Given the description of an element on the screen output the (x, y) to click on. 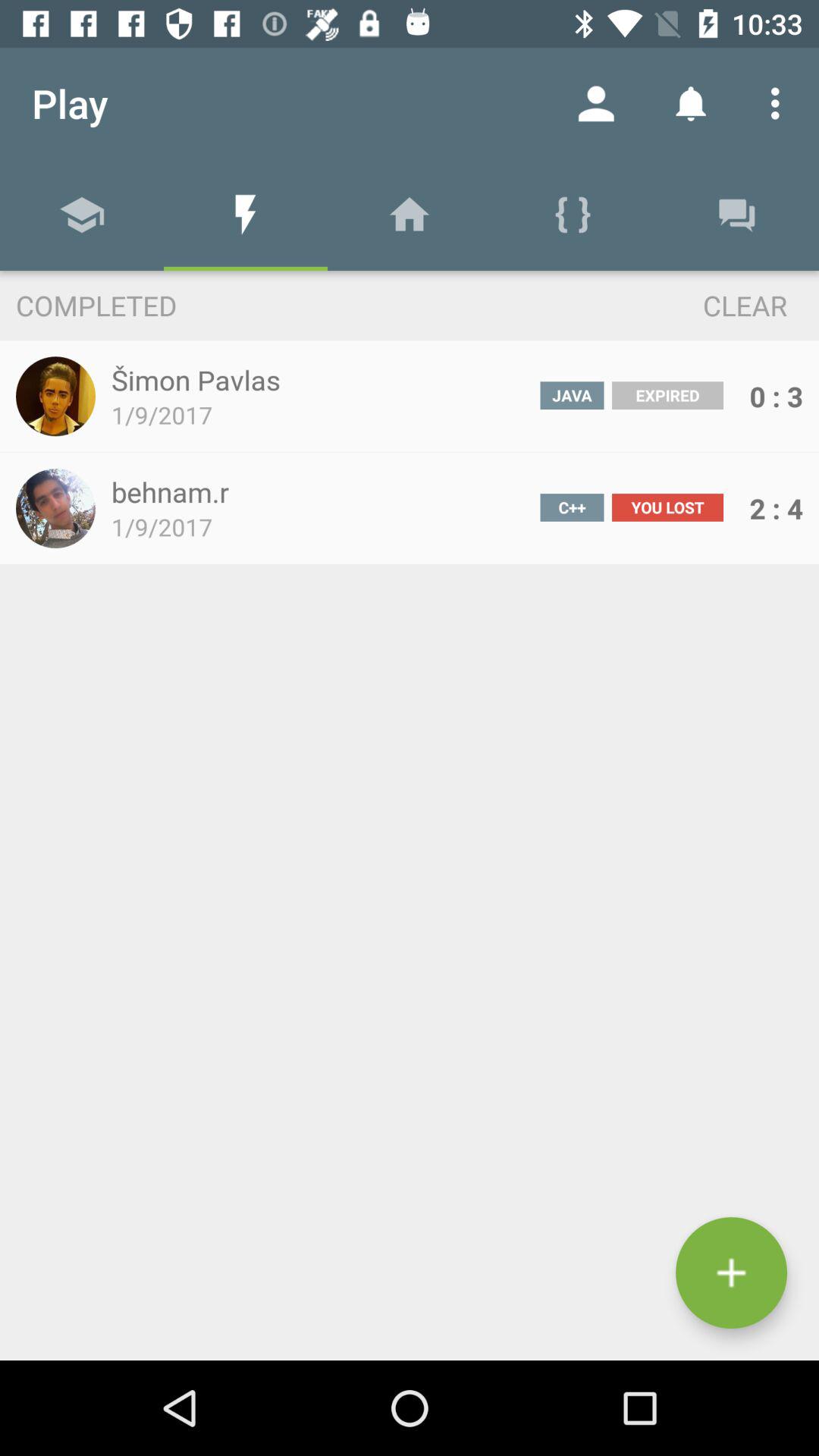
turn on item to the right of the completed item (717, 305)
